Given the description of an element on the screen output the (x, y) to click on. 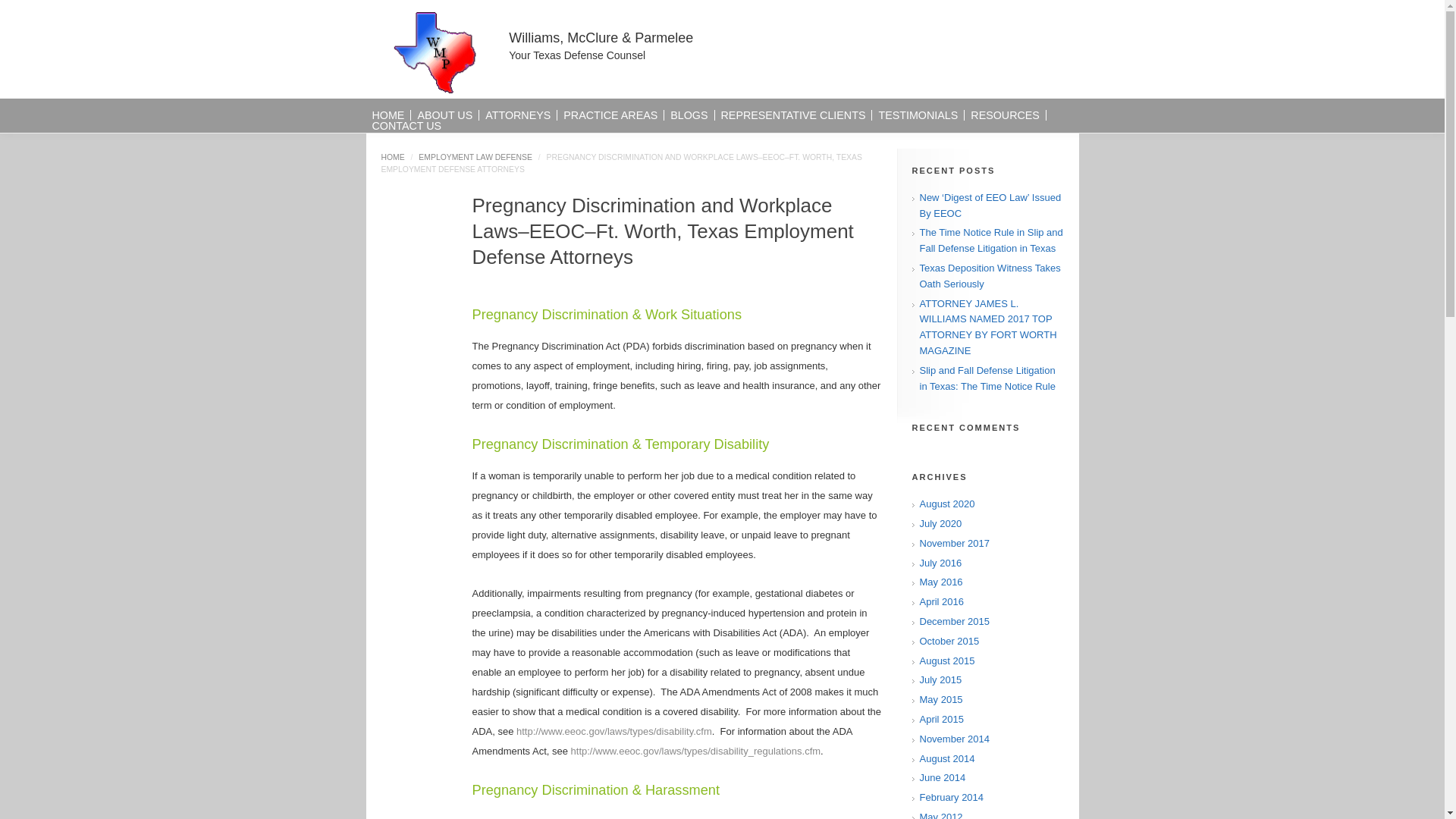
BLOGS (688, 114)
ABOUT US (443, 114)
ATTORNEYS (517, 114)
HOME (392, 157)
PRACTICE AREAS (610, 114)
HOME (387, 114)
RESOURCES (1005, 114)
REPRESENTATIVE CLIENTS (793, 114)
EMPLOYMENT LAW DEFENSE (475, 157)
